Given the description of an element on the screen output the (x, y) to click on. 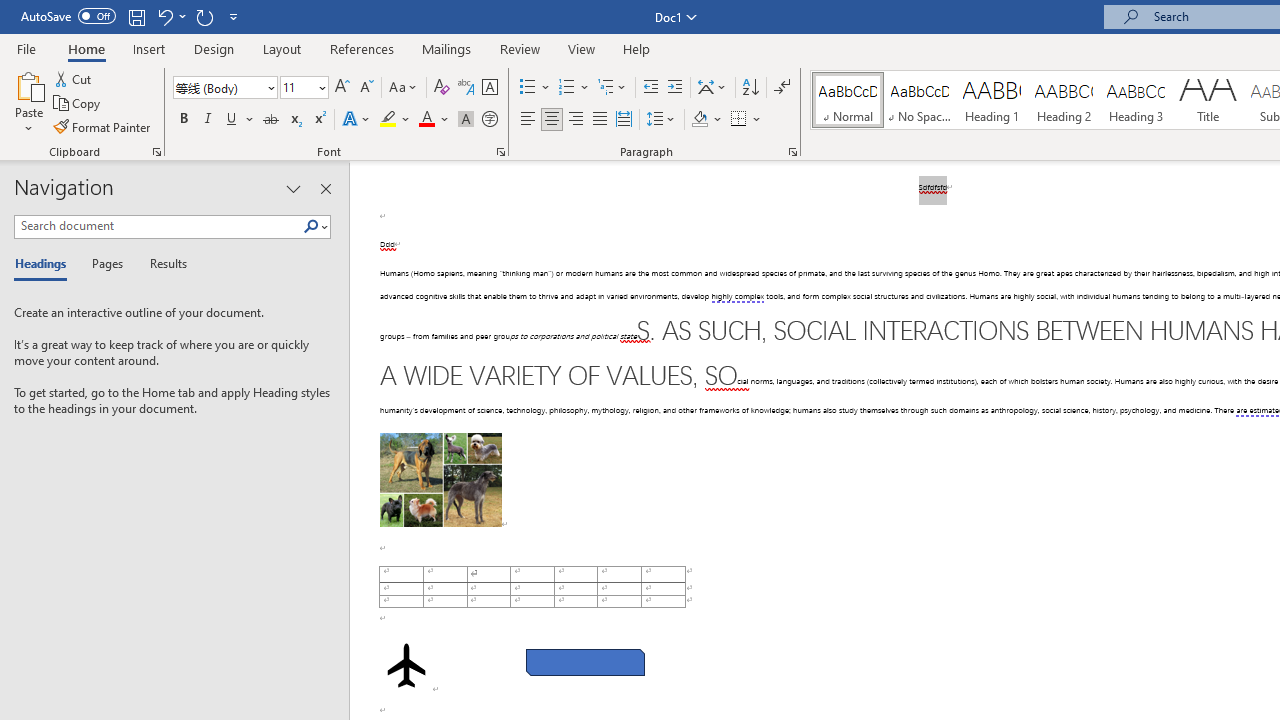
Heading 3 (1135, 100)
